Given the description of an element on the screen output the (x, y) to click on. 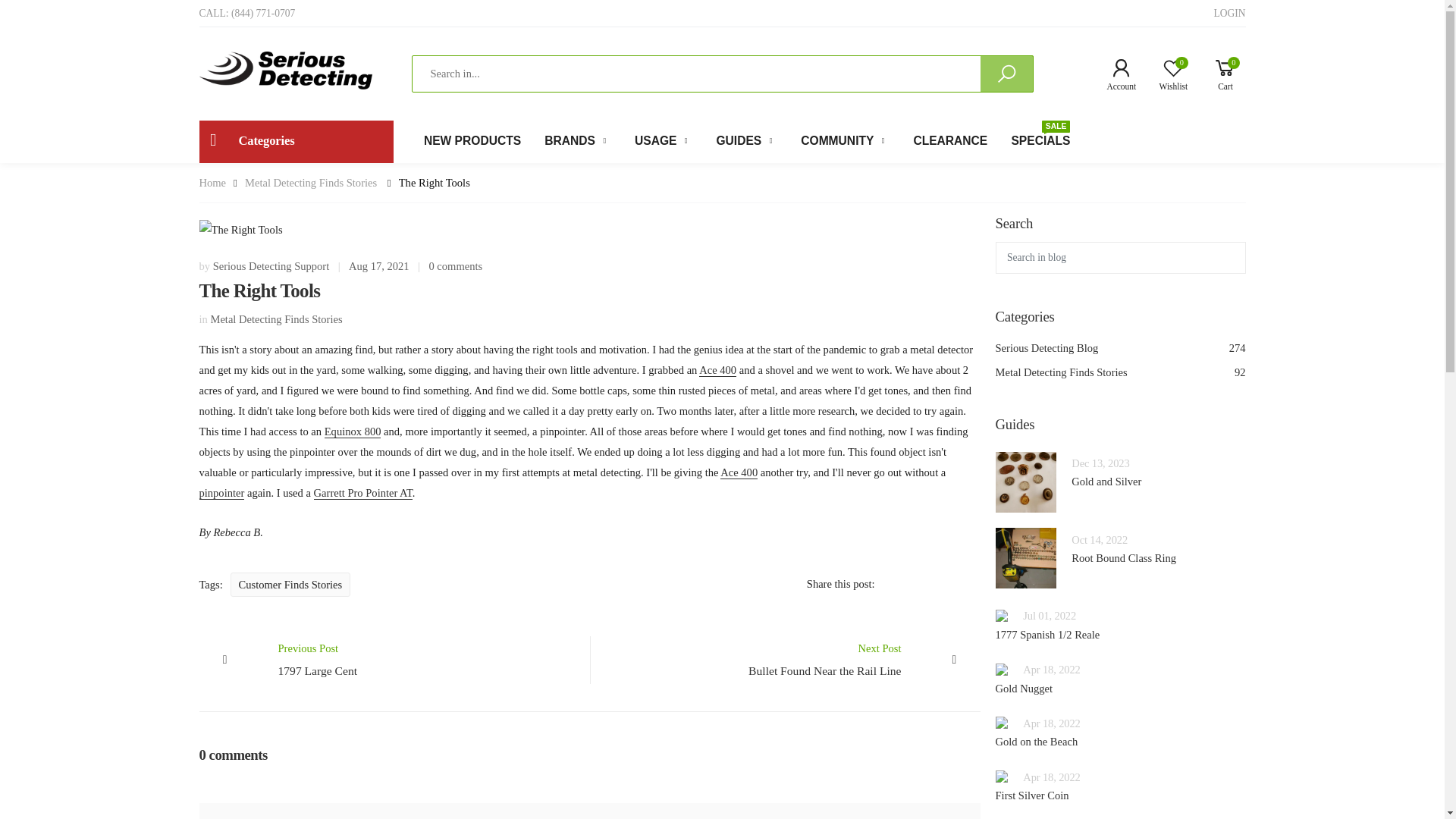
Categories (295, 141)
LOGIN (1167, 73)
Account (1219, 73)
Serious Detecting Blog (1228, 13)
Home (1115, 73)
NEW PRODUCTS (1119, 348)
Metal Detecting Finds Stories (211, 182)
Categories (472, 141)
Customer Finds Stories (1119, 372)
BRANDS (295, 141)
